Given the description of an element on the screen output the (x, y) to click on. 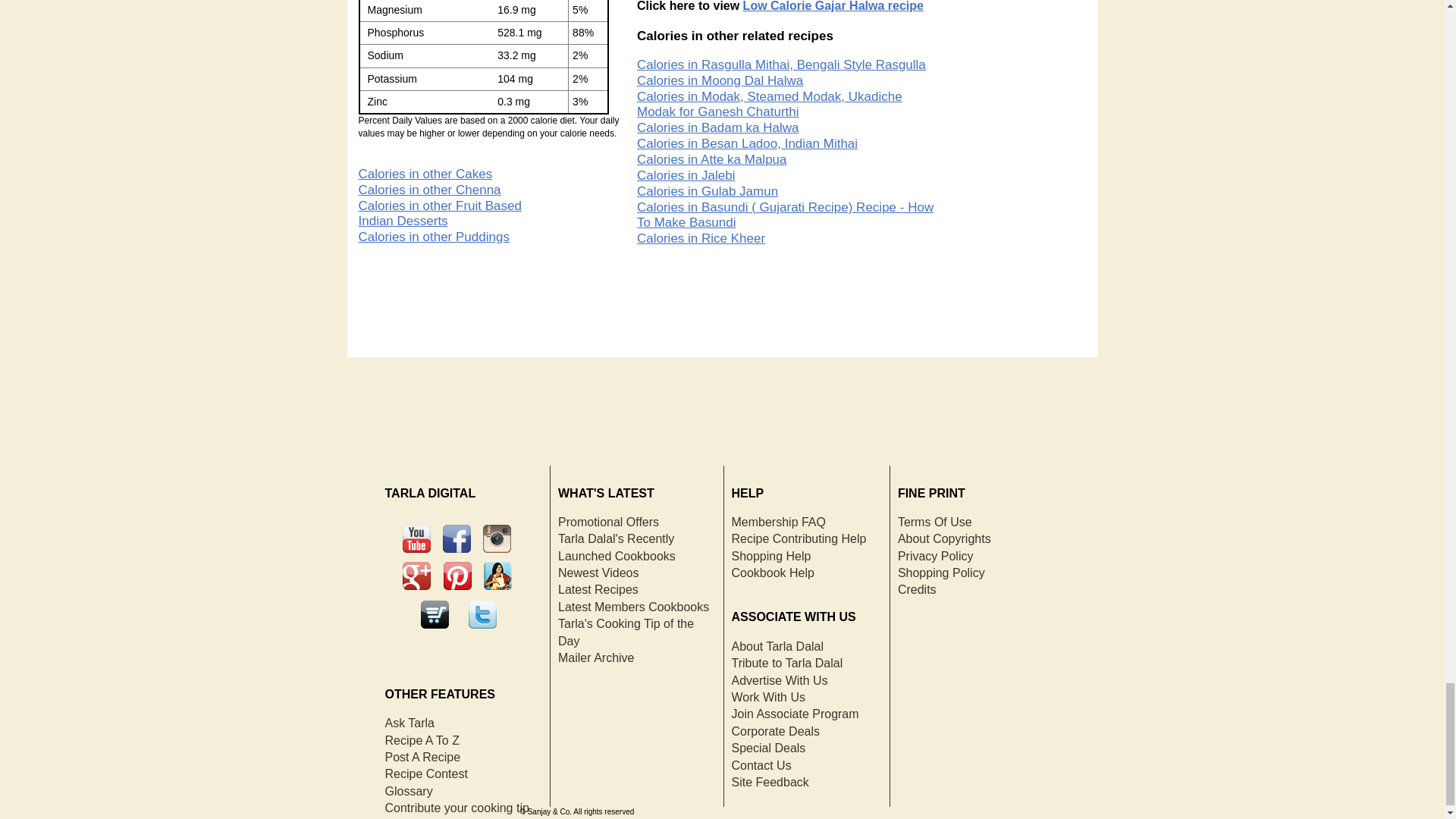
Click here (832, 6)
